Given the description of an element on the screen output the (x, y) to click on. 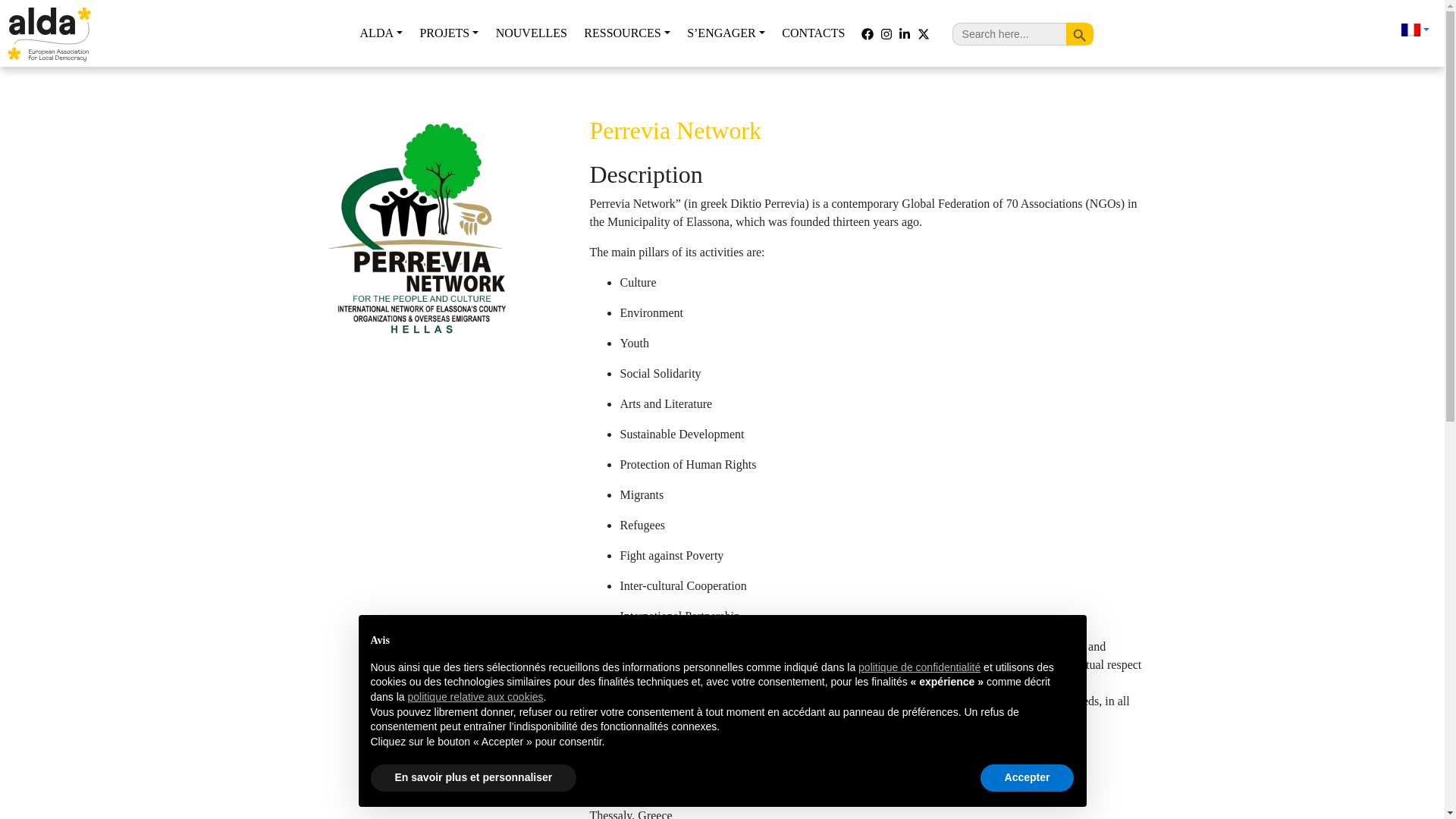
ALDA (380, 33)
PROJETS (448, 33)
NOUVELLES (531, 33)
CONTACTS (813, 33)
Search Button (1079, 33)
RESSOURCES (626, 33)
